Given the description of an element on the screen output the (x, y) to click on. 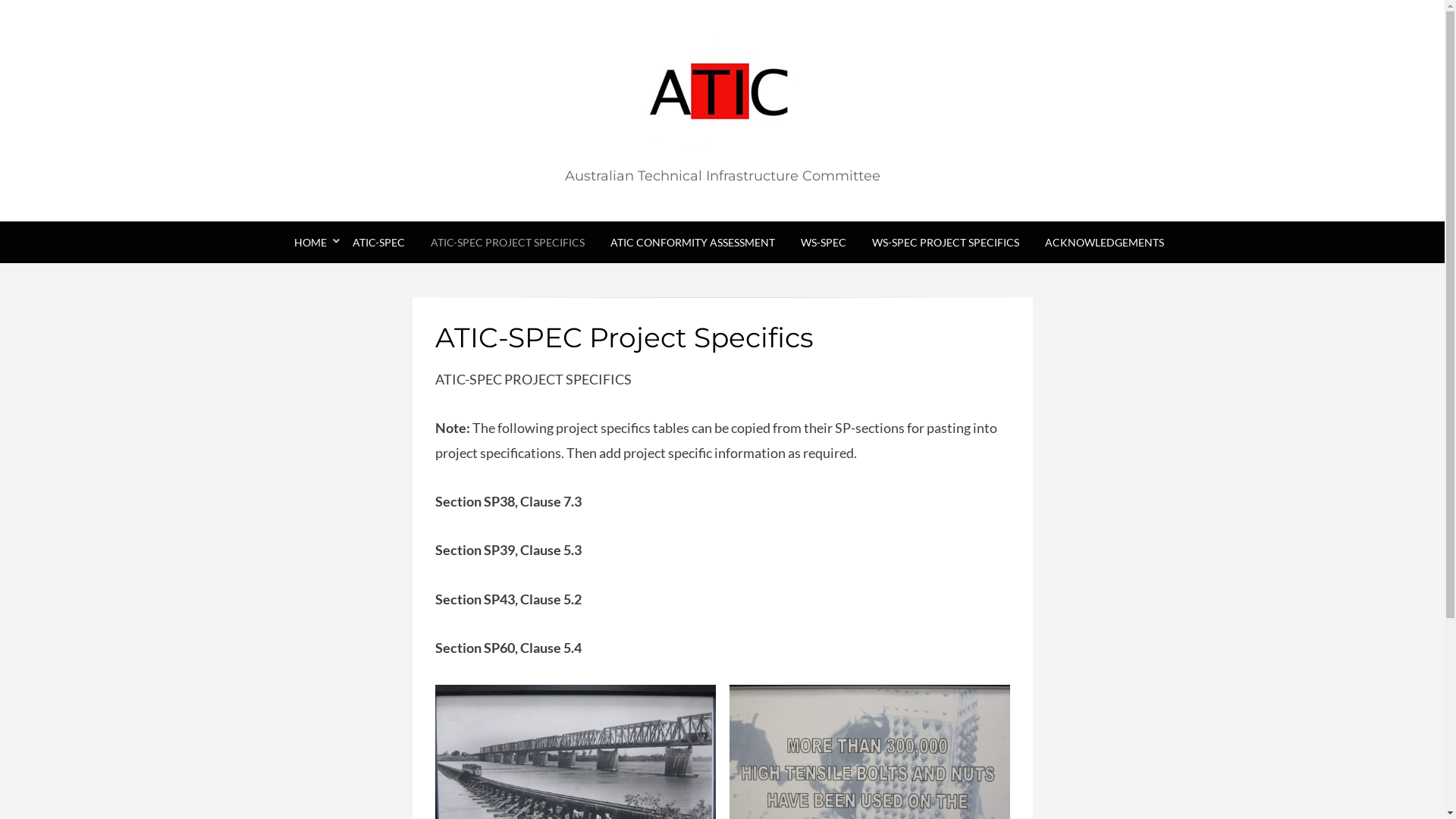
ACKNOWLEDGEMENTS Element type: text (1097, 241)
ATIC-SPEC PROJECT SPECIFICS Element type: text (506, 241)
ATIC-SPEC Element type: text (378, 241)
WS-SPEC PROJECT SPECIFICS Element type: text (944, 241)
ATIC CONFORMITY ASSESSMENT Element type: text (692, 241)
HOME Element type: text (309, 241)
WS-SPEC Element type: text (822, 241)
